Given the description of an element on the screen output the (x, y) to click on. 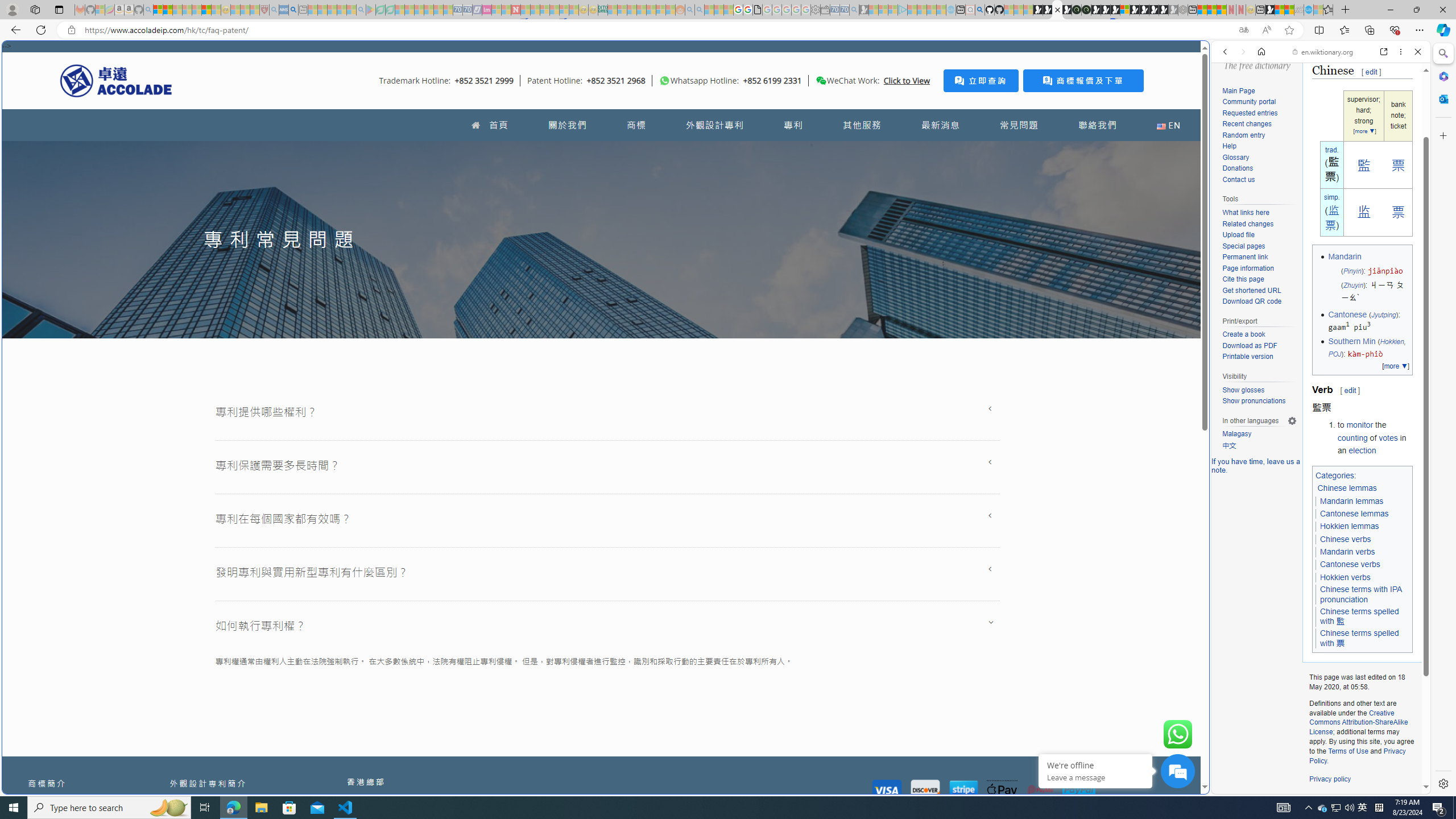
Cantonese lemmas (1354, 513)
Cantonese (1347, 314)
Search the web (1326, 78)
Printable version (1259, 356)
